Given the description of an element on the screen output the (x, y) to click on. 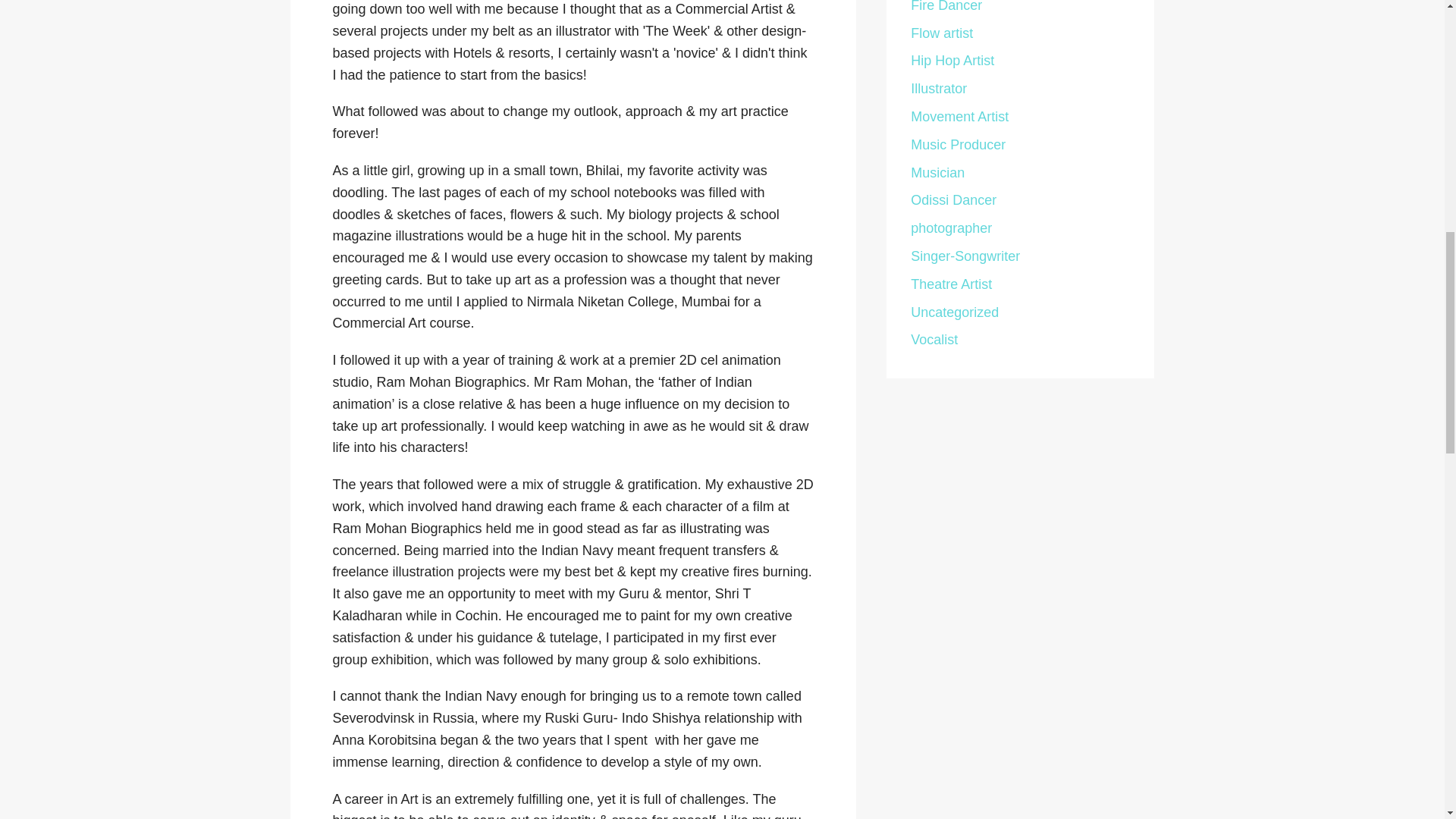
Flow artist (941, 32)
Fire Dancer (946, 6)
Illustrator (938, 88)
Hip Hop Artist (952, 60)
